Given the description of an element on the screen output the (x, y) to click on. 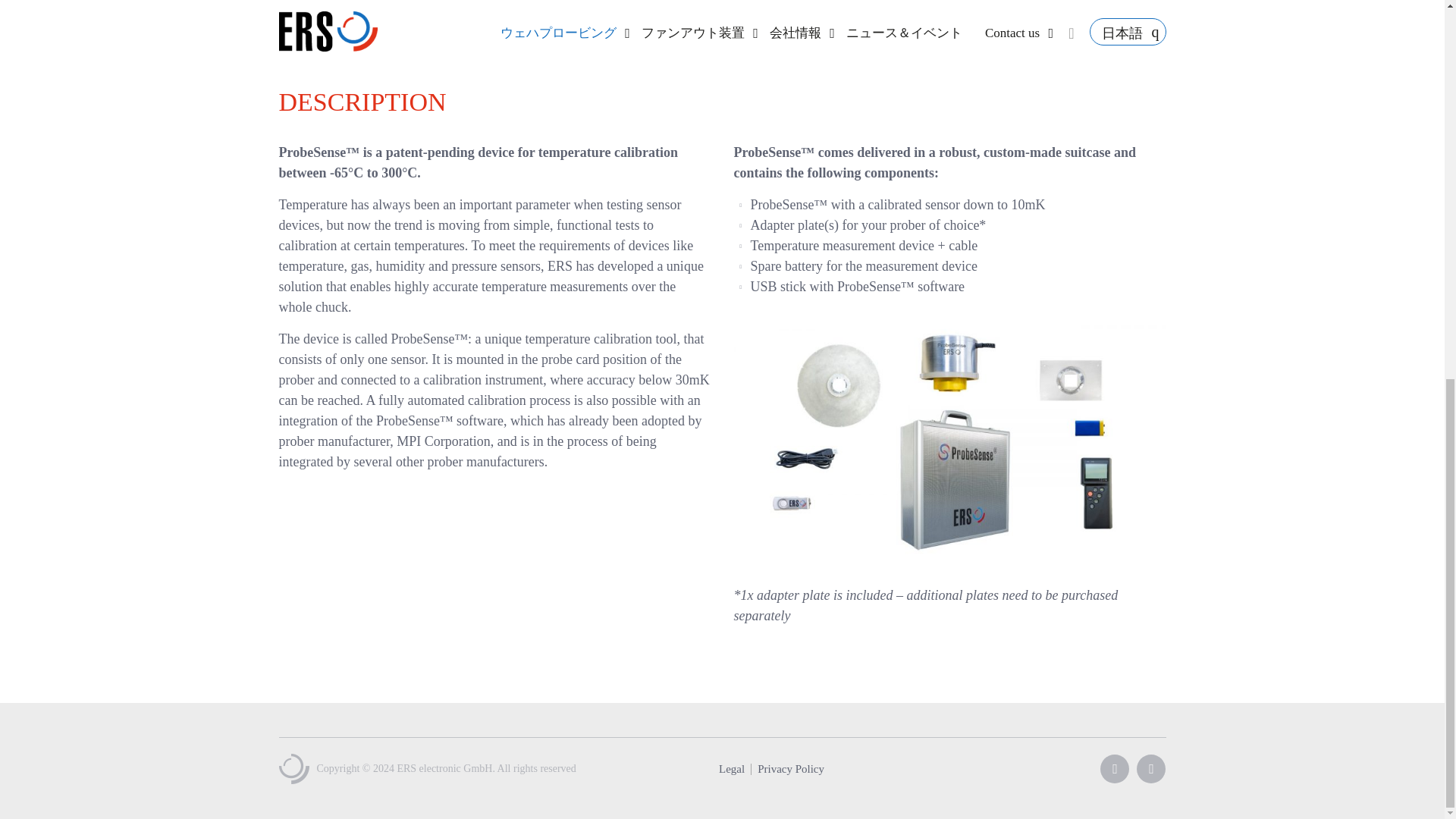
LinkedIn (1151, 768)
probesense components 1 (949, 441)
Youtube (1114, 768)
